Given the description of an element on the screen output the (x, y) to click on. 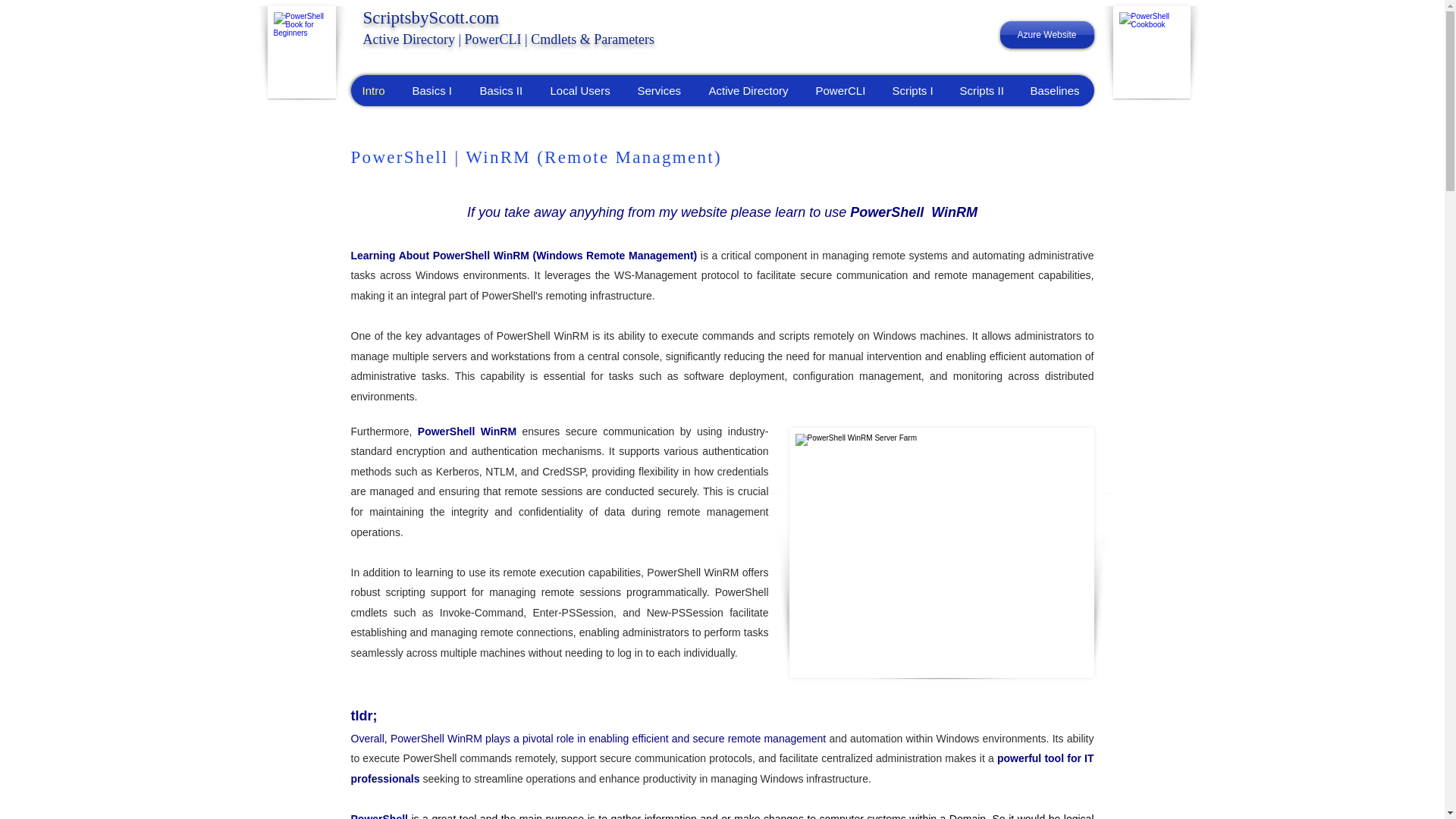
ScriptsbyScott.com (430, 17)
Azure Website (1045, 34)
Intro (374, 90)
